Given the description of an element on the screen output the (x, y) to click on. 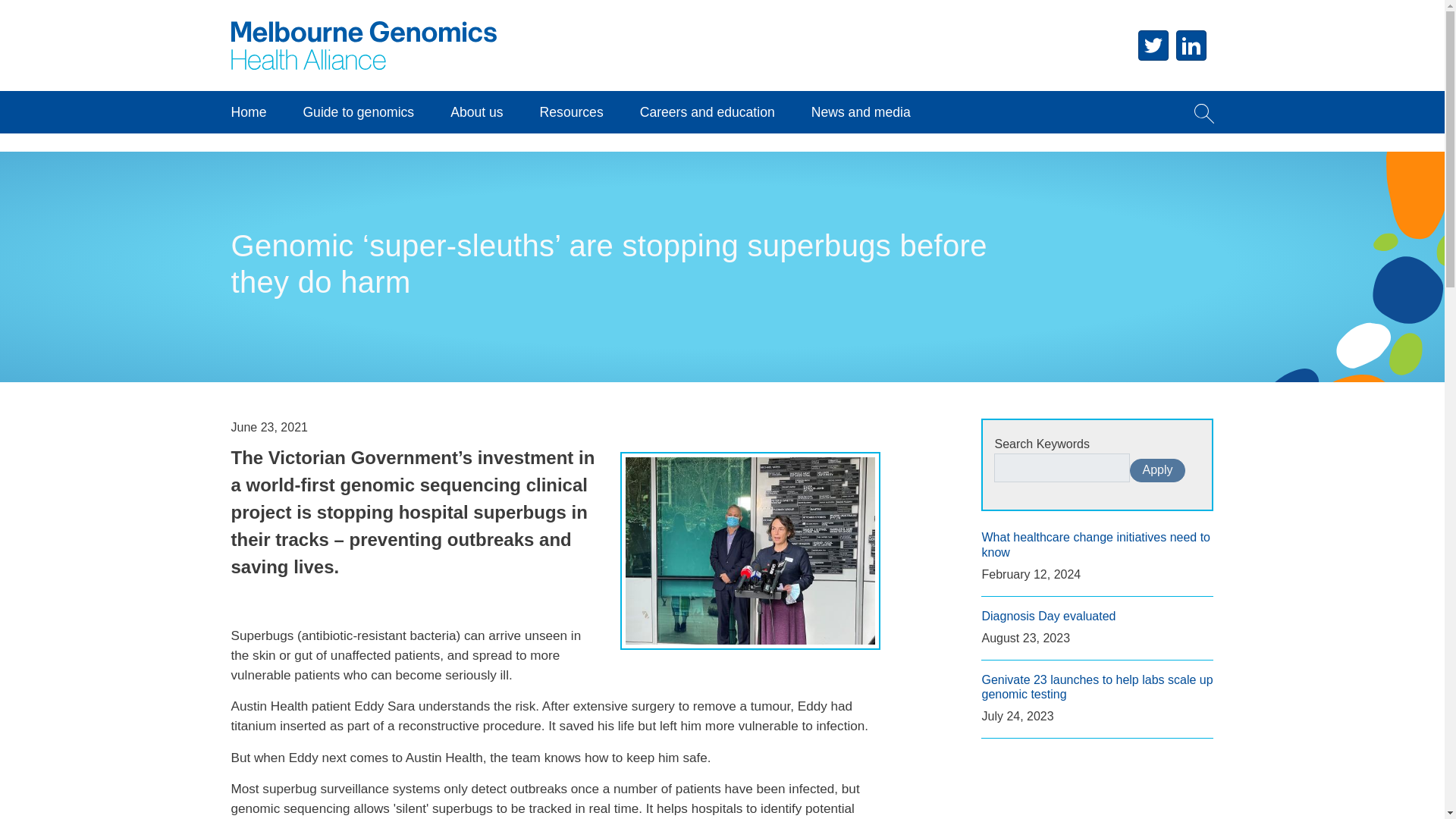
Guide to genomics (357, 111)
Home (363, 17)
About us (475, 111)
Search keywords (1061, 467)
